Given the description of an element on the screen output the (x, y) to click on. 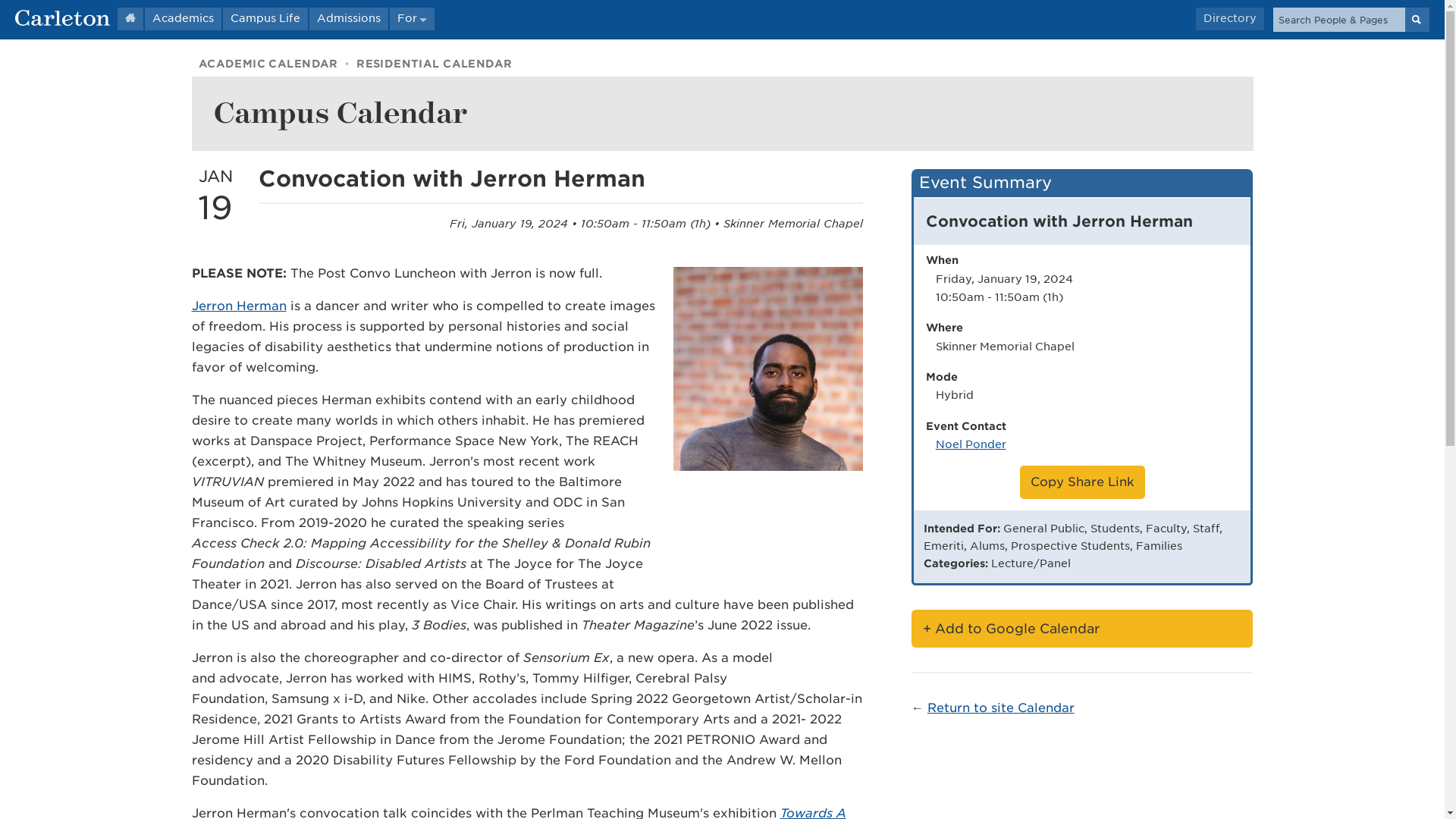
ACADEMIC CALENDAR (267, 63)
Noel Ponder (971, 443)
For (411, 18)
RESIDENTIAL CALENDAR (434, 63)
Towards A Warm Embrace (517, 812)
Campus Directory (1229, 18)
Admissions (348, 18)
Campus Life (264, 18)
Academics (182, 18)
Jerron Herman (237, 305)
Return to site Calendar (1000, 707)
Directory (1229, 18)
Copy Share Link (1082, 482)
